Given the description of an element on the screen output the (x, y) to click on. 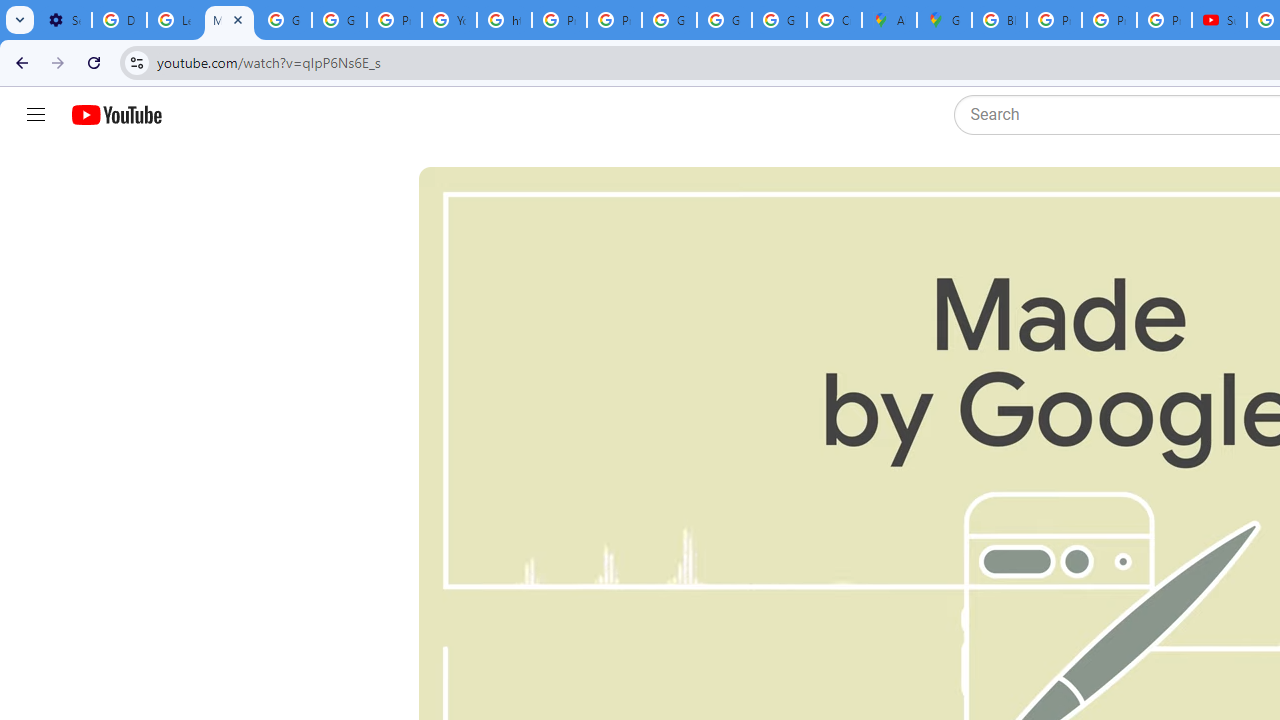
Blogger Policies and Guidelines - Transparency Center (998, 20)
https://scholar.google.com/ (504, 20)
Create your Google Account (833, 20)
Google Account Help (339, 20)
Privacy Help Center - Policies Help (1053, 20)
Subscriptions - YouTube (1218, 20)
Delete photos & videos - Computer - Google Photos Help (119, 20)
